Given the description of an element on the screen output the (x, y) to click on. 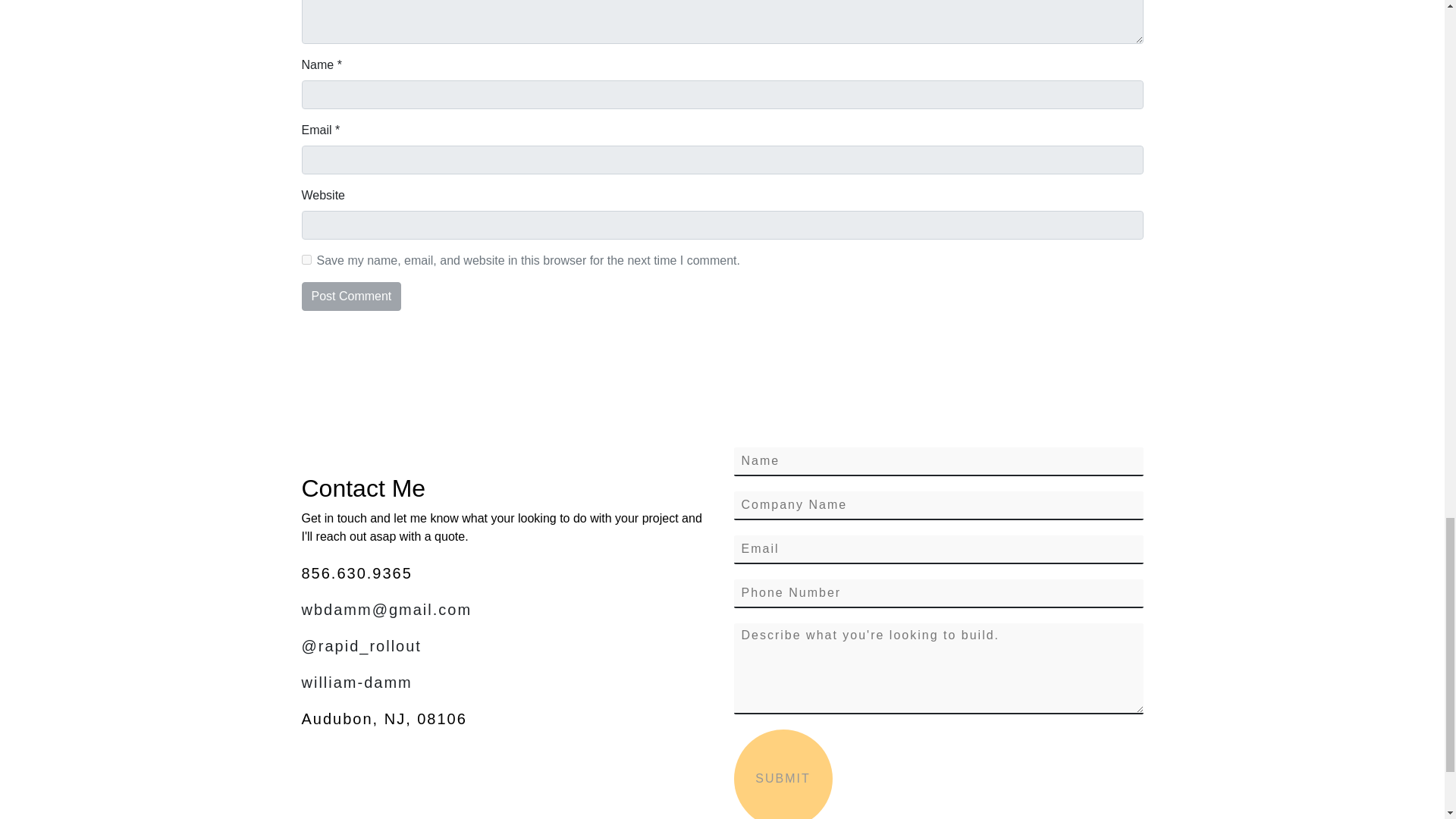
yes (306, 259)
SUBMIT (782, 774)
Post Comment (351, 296)
Post Comment (351, 296)
william-damm (506, 682)
